Given the description of an element on the screen output the (x, y) to click on. 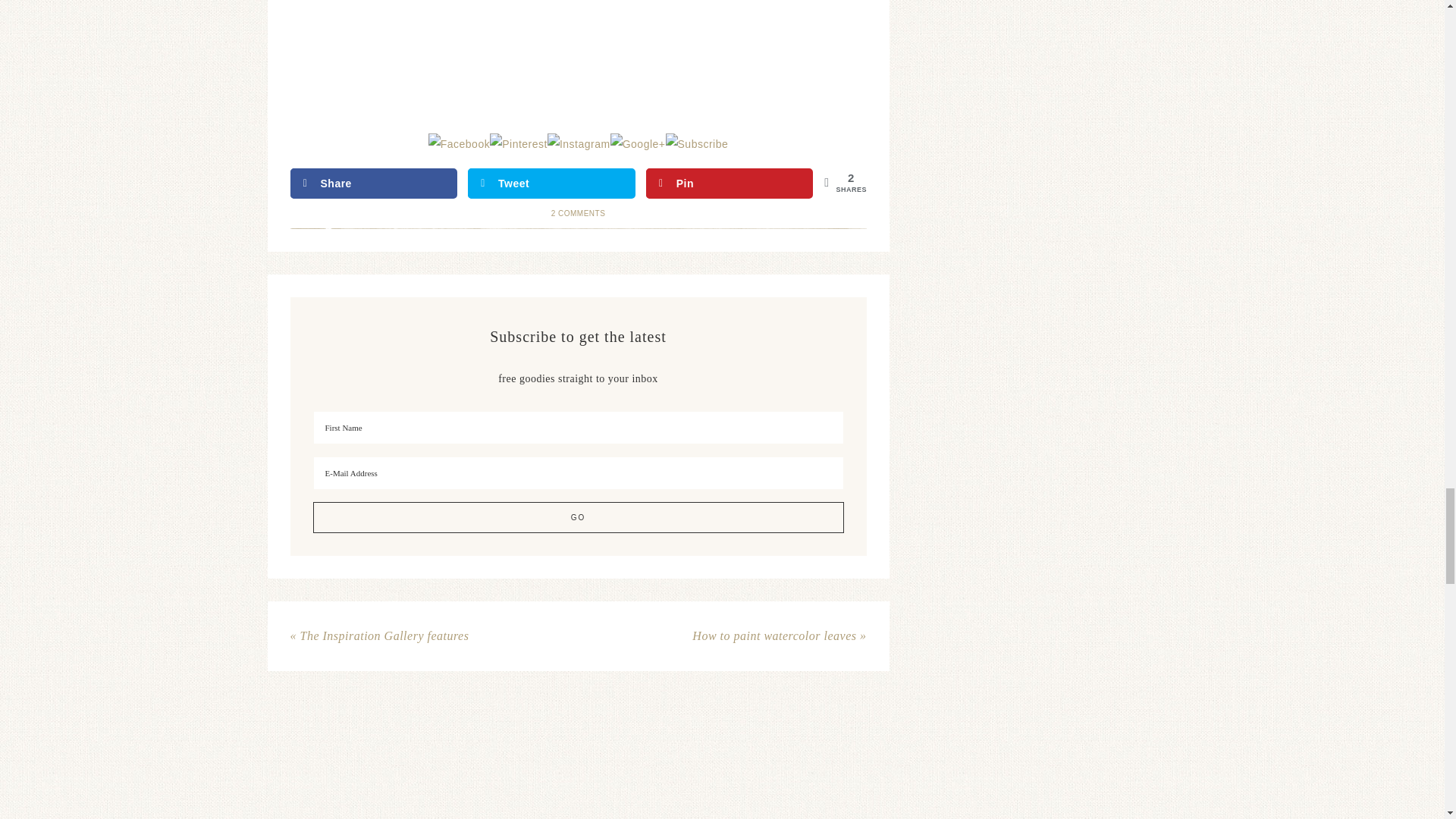
Share on Facebook (373, 183)
Go (578, 517)
Share on Twitter (550, 183)
Save to Pinterest (729, 183)
